Given the description of an element on the screen output the (x, y) to click on. 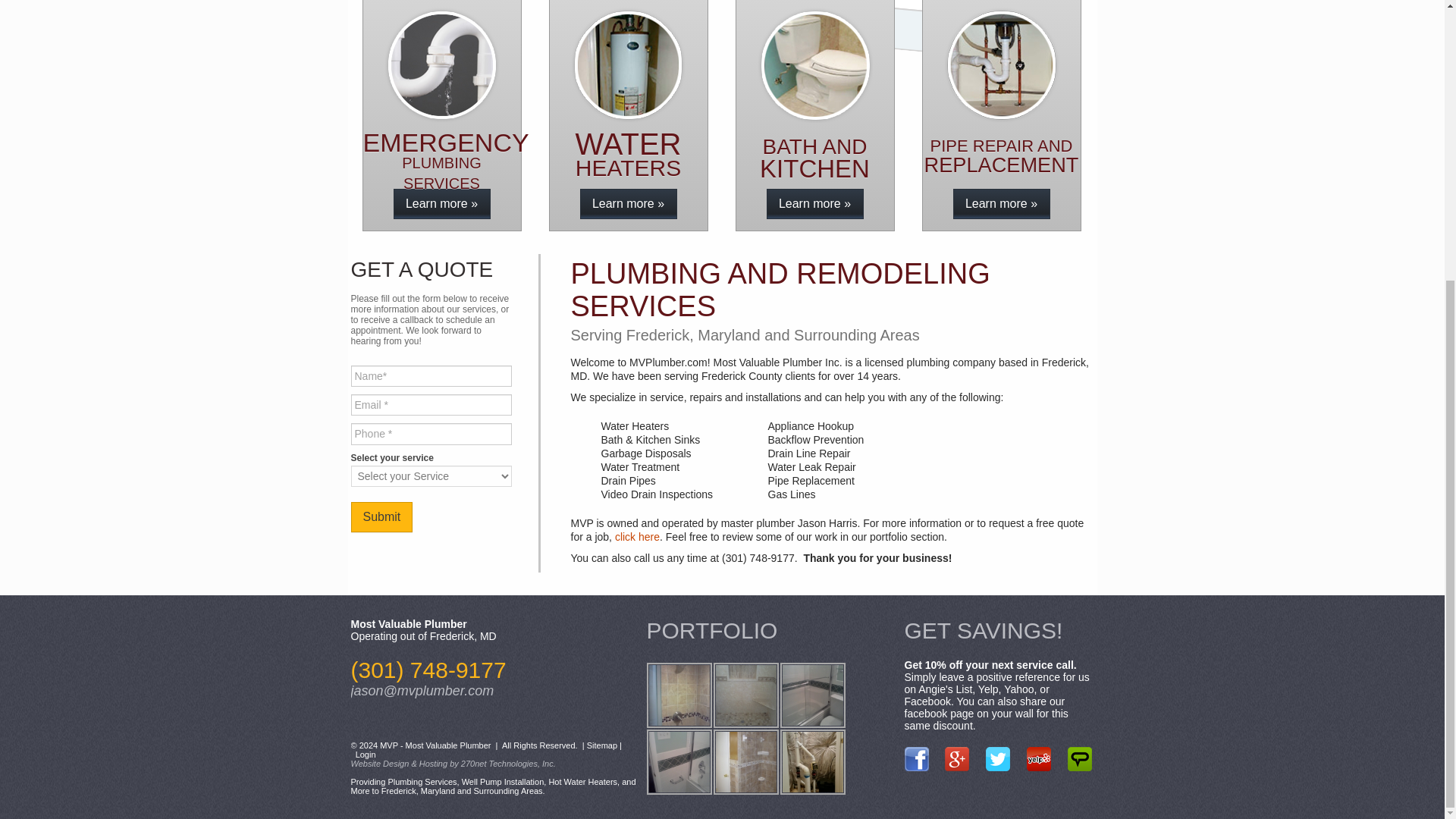
click here (636, 536)
Emergency Plumbing Services in Frederick, Maryland (441, 204)
Plumbing Repairs and Well Pumps in Frederick, Maryland (1000, 204)
Hot Water Heaters (582, 781)
Like MVPlumber, Frederick, Maryland Plumber on Facebook (916, 758)
Login (365, 754)
Sitemap (601, 745)
Review MVPlumber on Angie's List (1079, 758)
Need a new hot Water Heater in Frederick? We can help! (678, 695)
Plumbing Services (422, 781)
Frederick, Maryland Plumbing (636, 536)
Hot Water Heater Repair in Frederick, Maryland (628, 204)
Call us Today to fix Your Clogged Drain in Frederick, MD! (745, 695)
Check out our Frederick MD Plumbing Services (811, 695)
Plumber in Frederick, MD (814, 204)
